Given the description of an element on the screen output the (x, y) to click on. 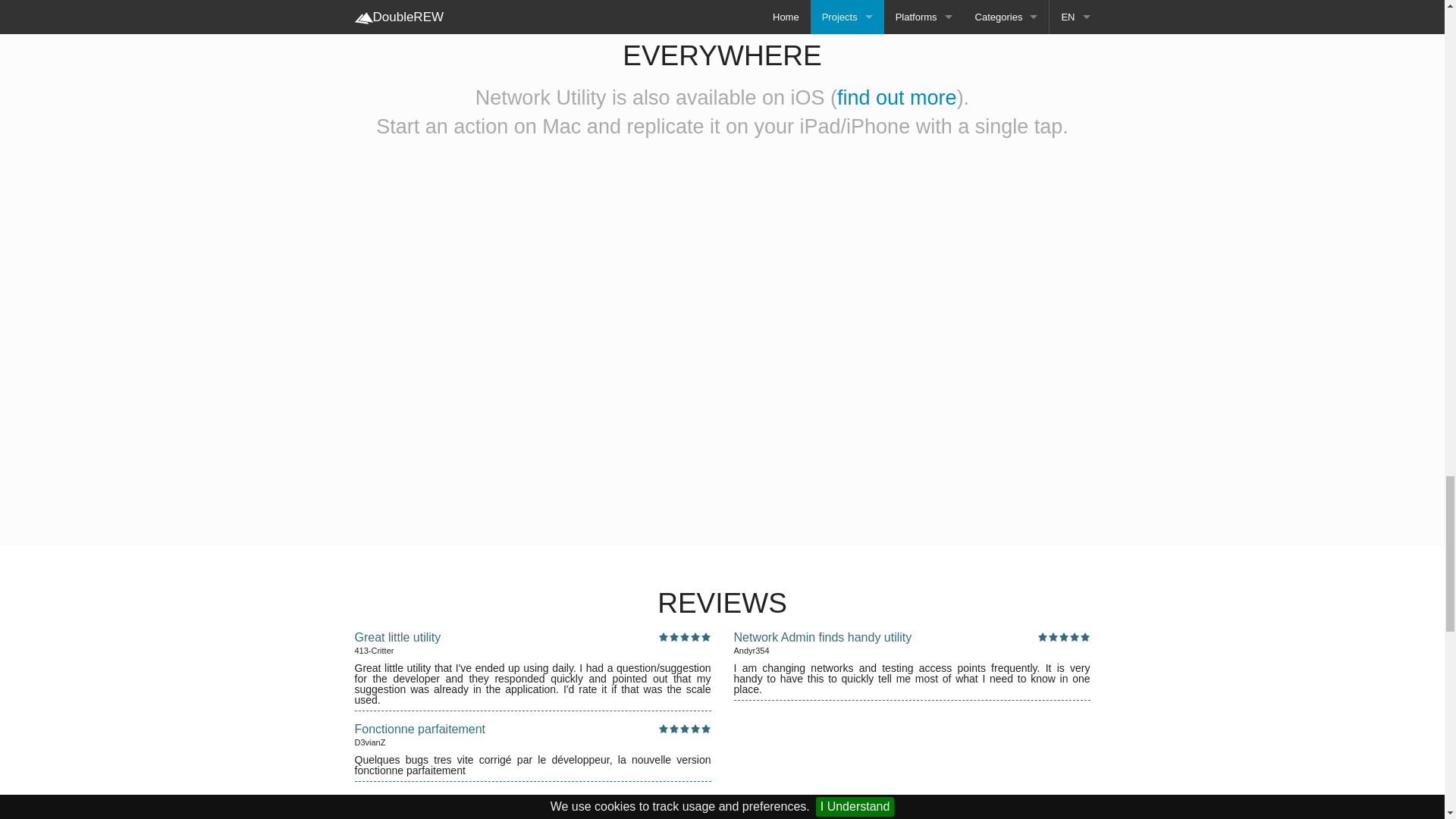
find out more (896, 97)
